Given the description of an element on the screen output the (x, y) to click on. 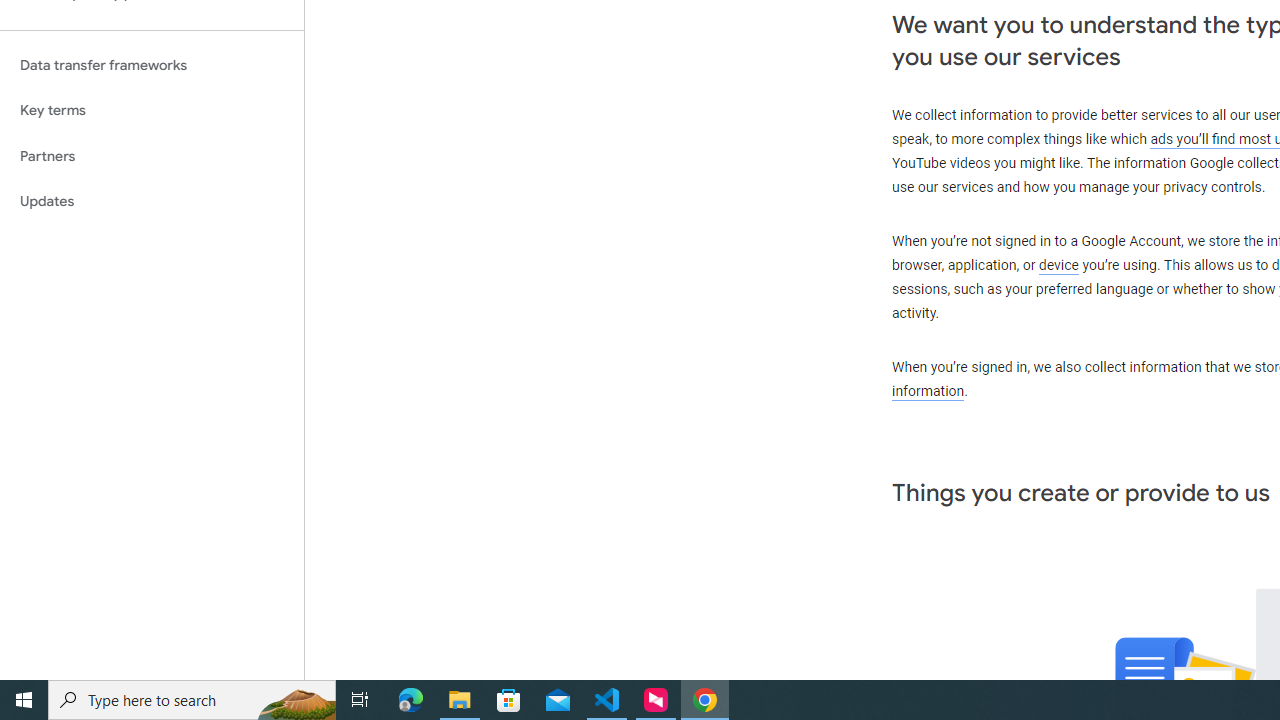
Partners (152, 156)
Key terms (152, 110)
Updates (152, 201)
device (1059, 265)
Data transfer frameworks (152, 65)
